Given the description of an element on the screen output the (x, y) to click on. 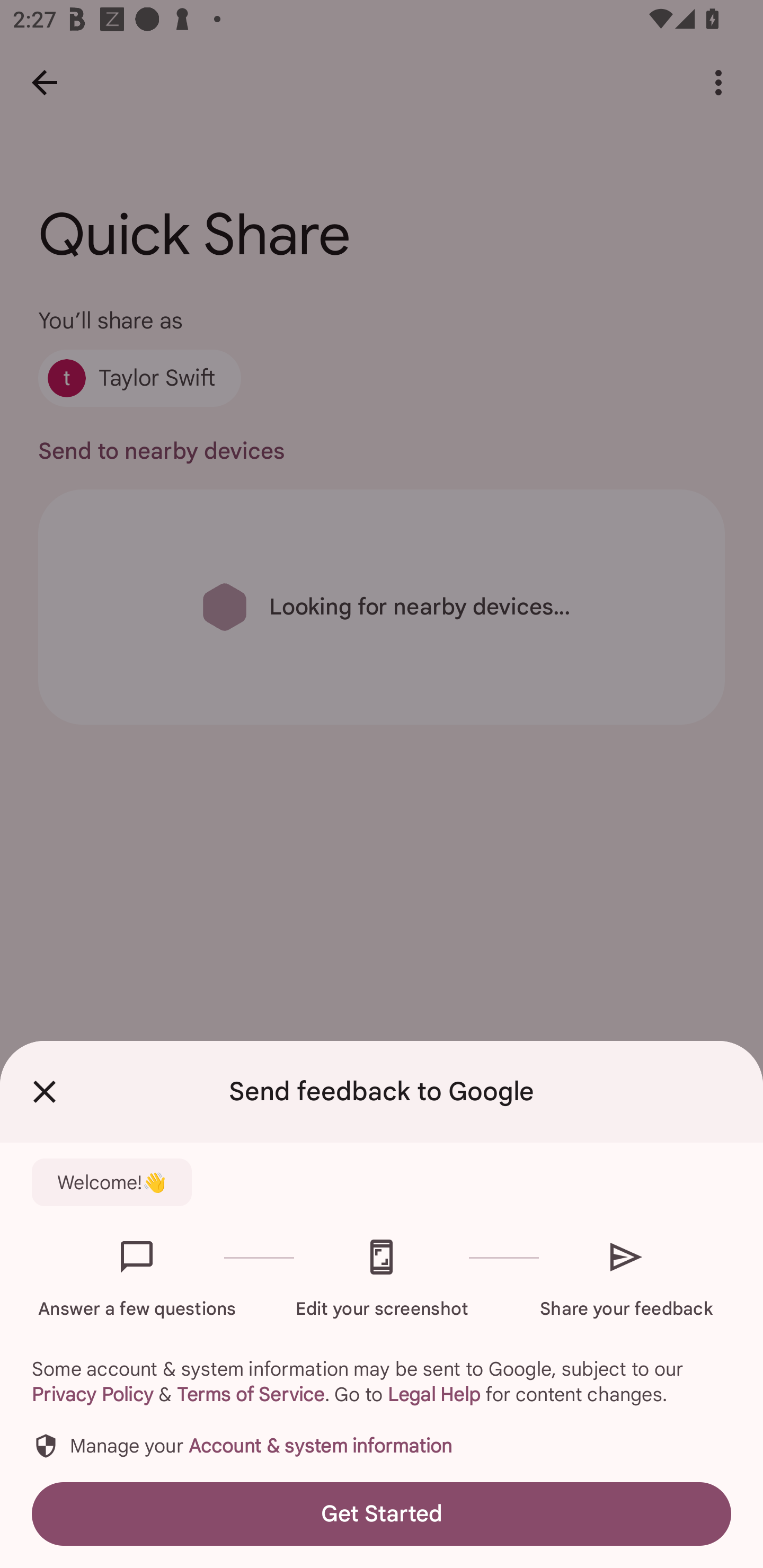
Close Feedback (44, 1091)
Get Started (381, 1513)
